Given the description of an element on the screen output the (x, y) to click on. 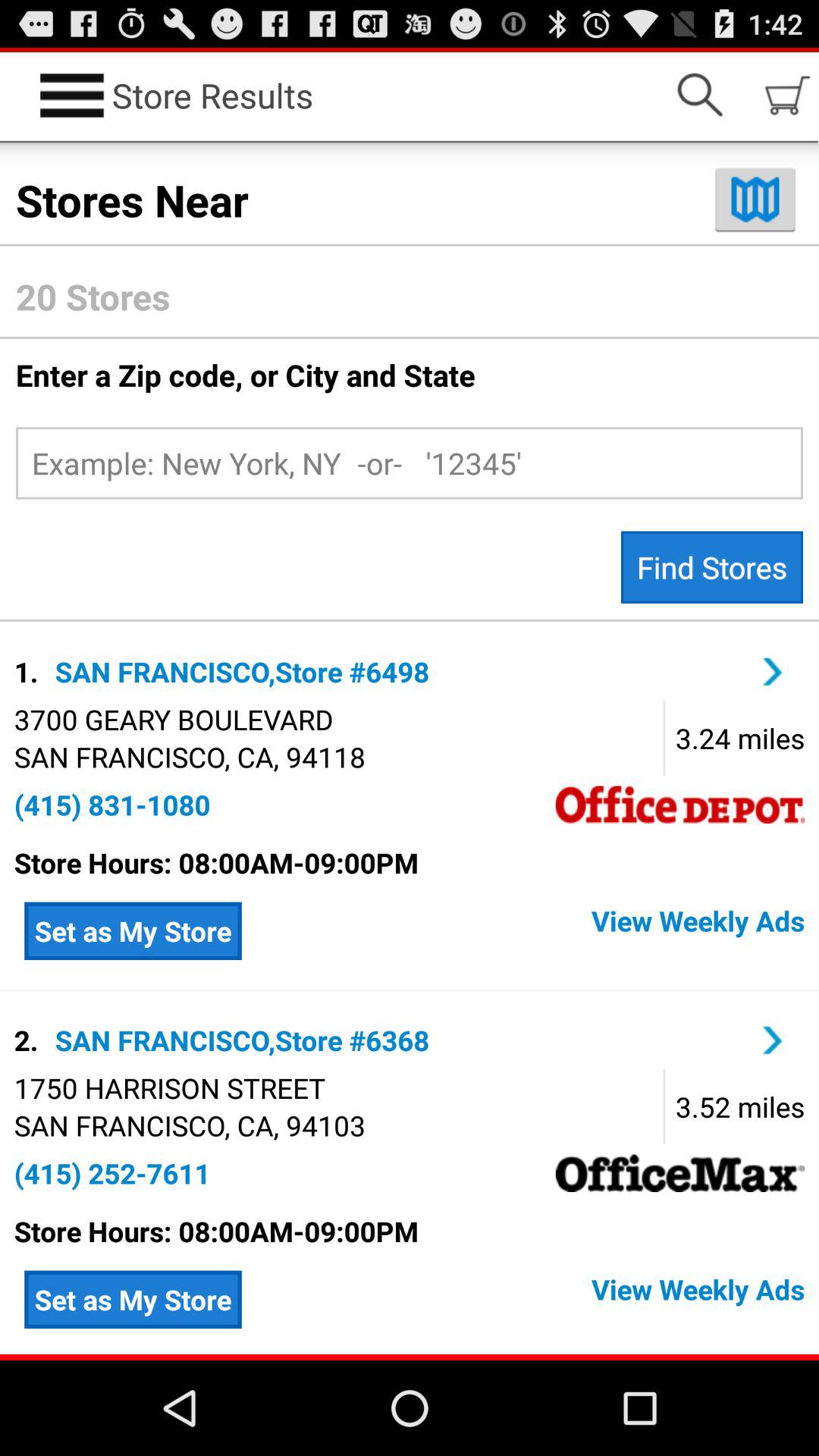
open map (755, 199)
